Given the description of an element on the screen output the (x, y) to click on. 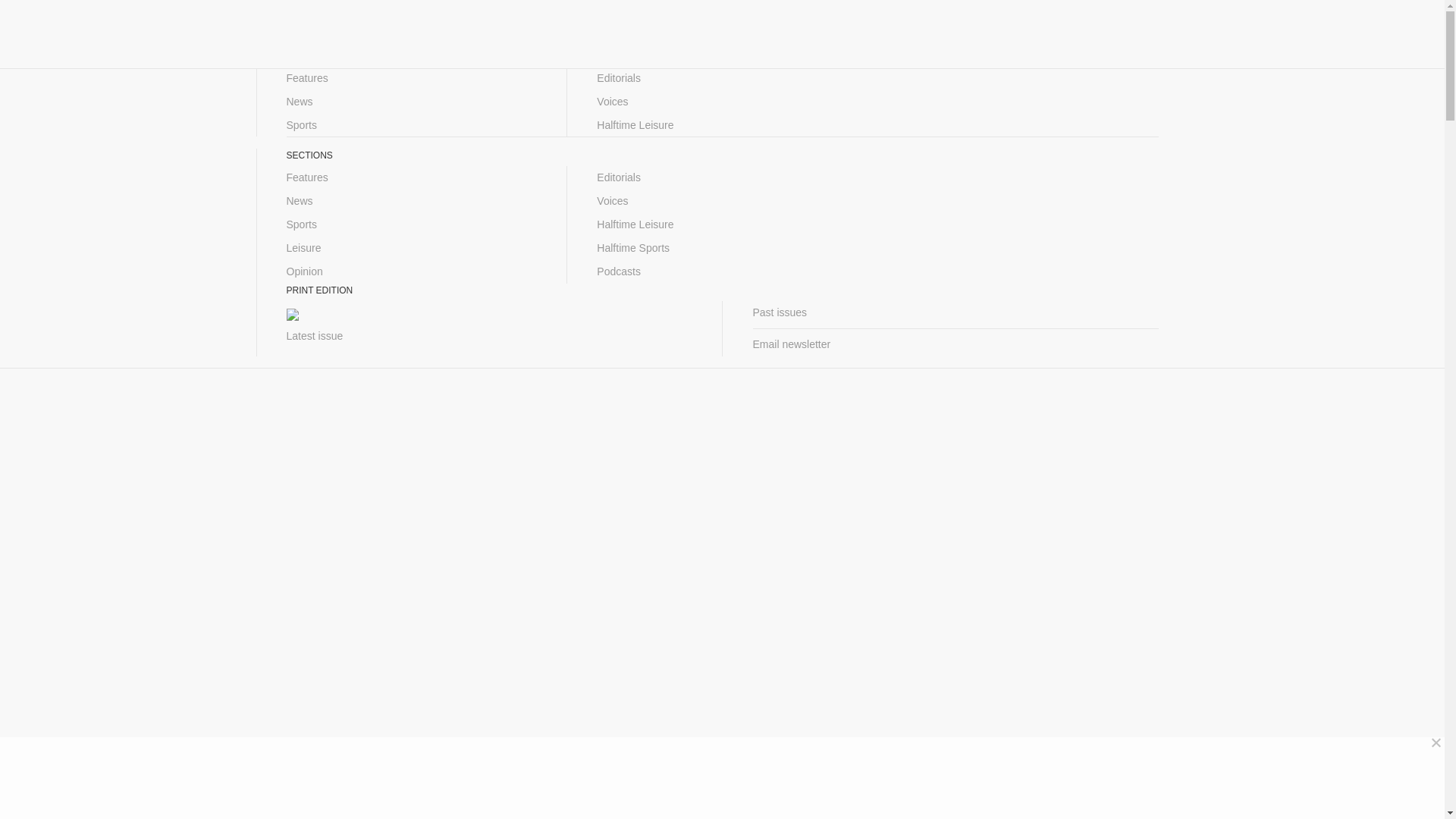
Leisure (411, 248)
Editorials (721, 78)
Latest issue (489, 336)
Voices (721, 200)
Halftime Sports (721, 248)
News (411, 200)
Features (411, 177)
Opinion (411, 271)
Past issues (954, 312)
News (411, 101)
